Given the description of an element on the screen output the (x, y) to click on. 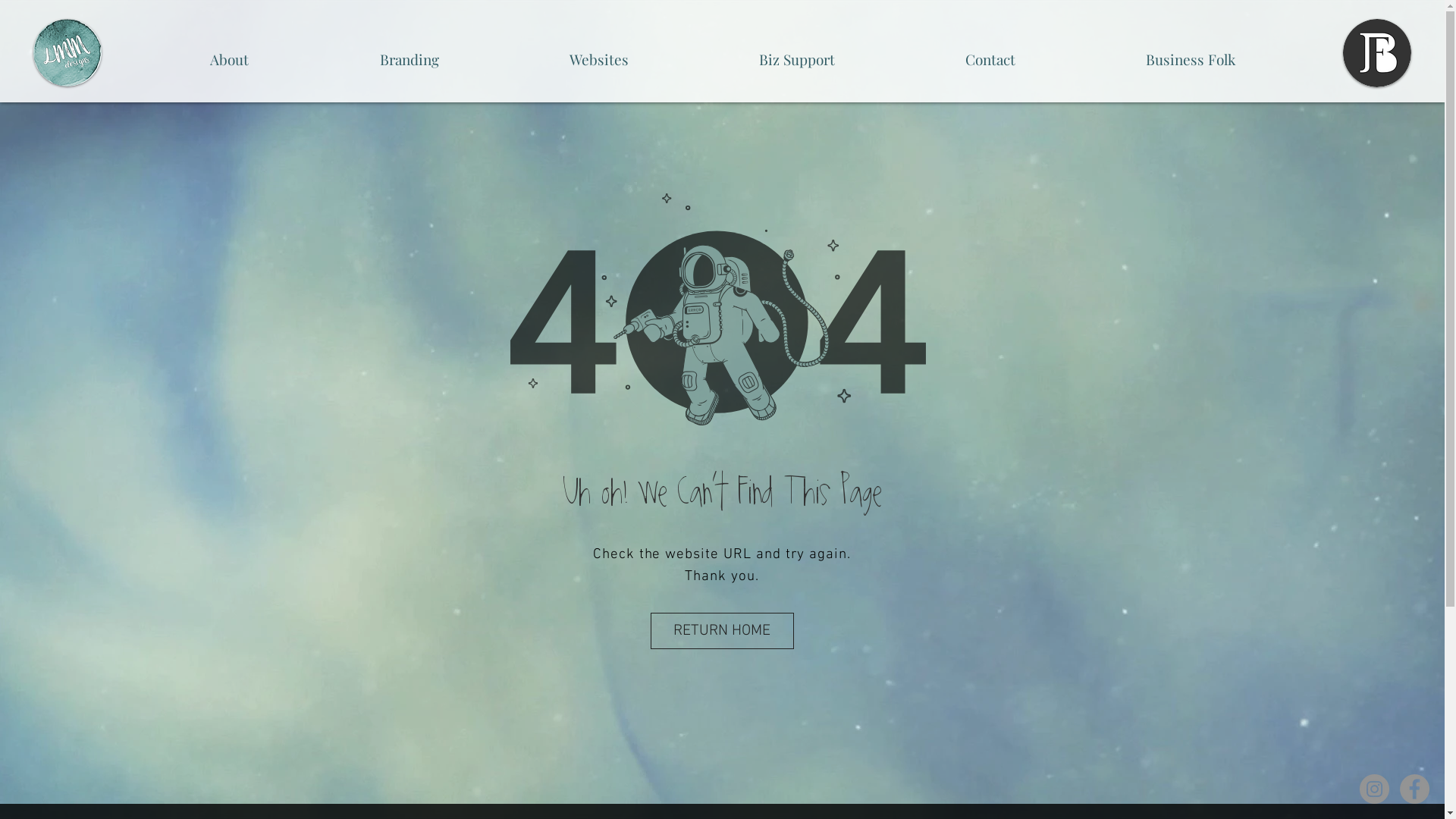
RETURN HOME Element type: text (721, 630)
Business Folk Element type: text (1190, 52)
Branding Element type: text (408, 52)
Contact Element type: text (990, 52)
Embedded Content Element type: hover (752, 25)
Biz Support Element type: text (796, 52)
About Element type: text (228, 52)
Embedded Content Element type: hover (718, 19)
Websites Element type: text (598, 52)
LMM HOME Element type: hover (67, 52)
Google Tag Manager Element type: hover (734, 24)
